Given the description of an element on the screen output the (x, y) to click on. 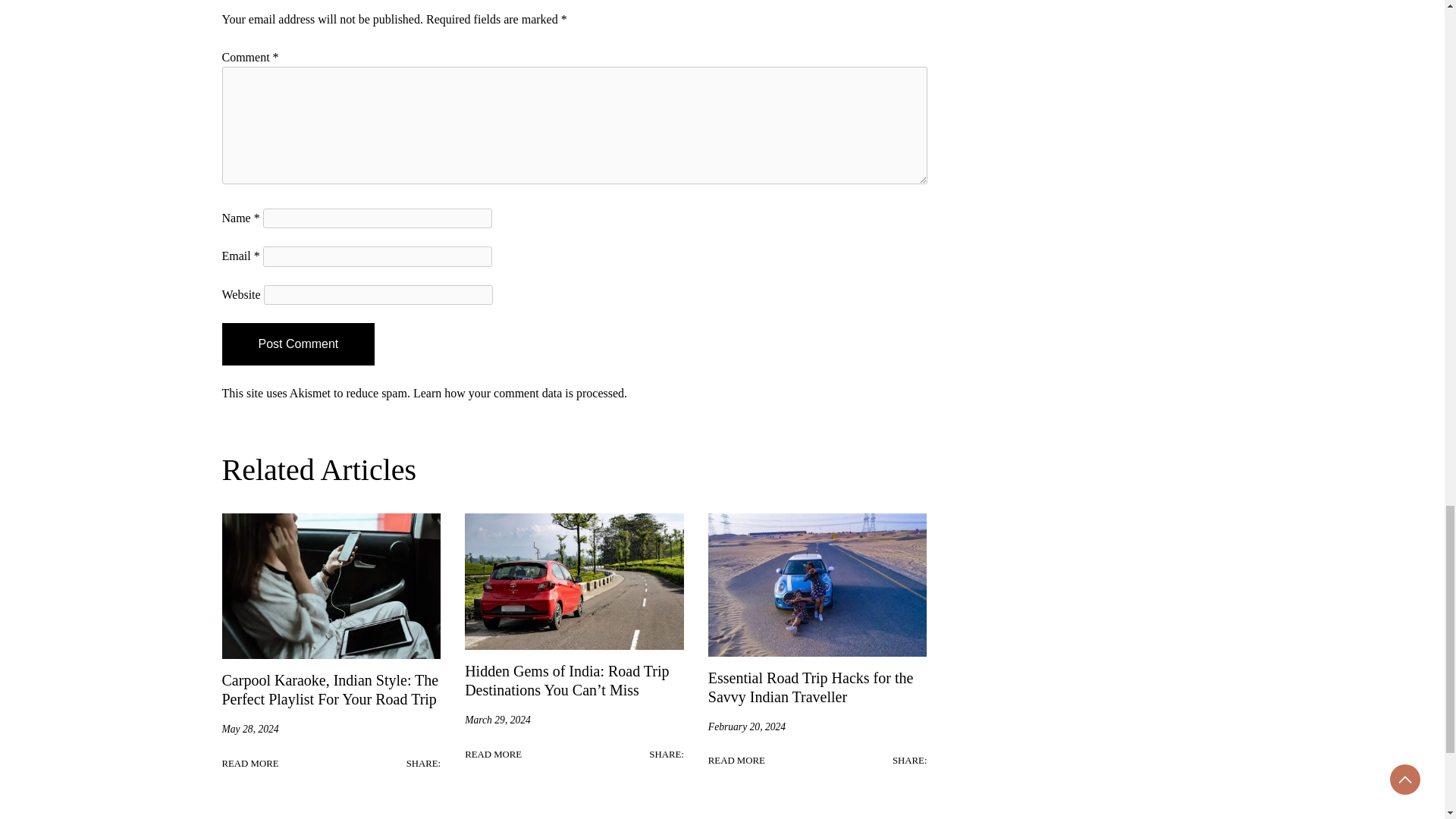
READ MORE (492, 754)
Post Comment (297, 343)
Learn how your comment data is processed (518, 392)
May 28, 2024 (249, 729)
READ MORE (249, 763)
Post Comment (297, 343)
Essential Road Trip Hacks for the Savvy Indian Traveller (810, 687)
March 29, 2024 (497, 719)
February 20, 2024 (746, 727)
READ MORE (736, 760)
